Given the description of an element on the screen output the (x, y) to click on. 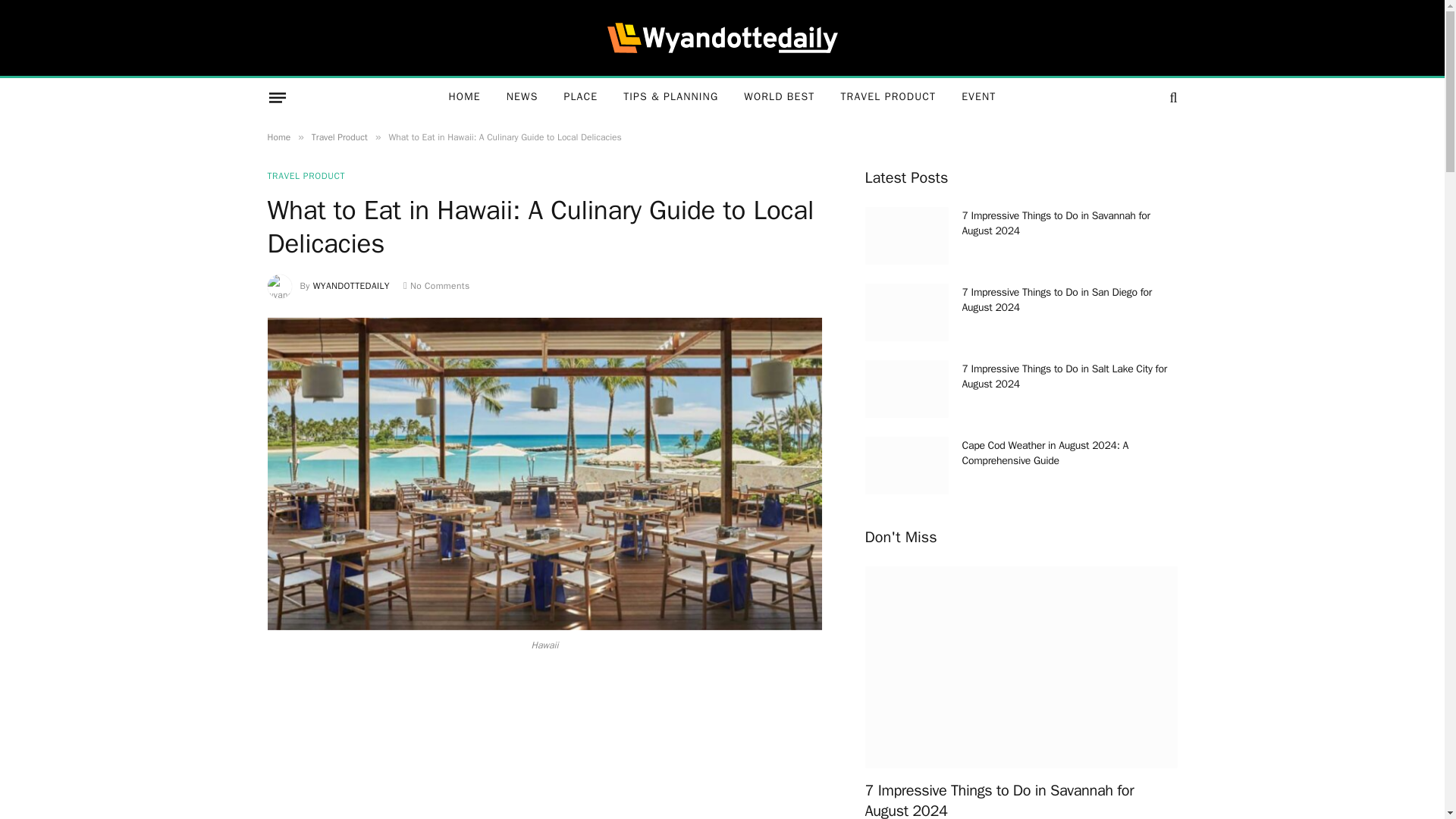
WORLD BEST (778, 97)
Home (277, 137)
No Comments (436, 285)
TRAVEL PRODUCT (888, 97)
HOME (464, 97)
wyandottedaily.com (722, 37)
TRAVEL PRODUCT (305, 175)
Posts by wyandottedaily (351, 285)
EVENT (979, 97)
